Given the description of an element on the screen output the (x, y) to click on. 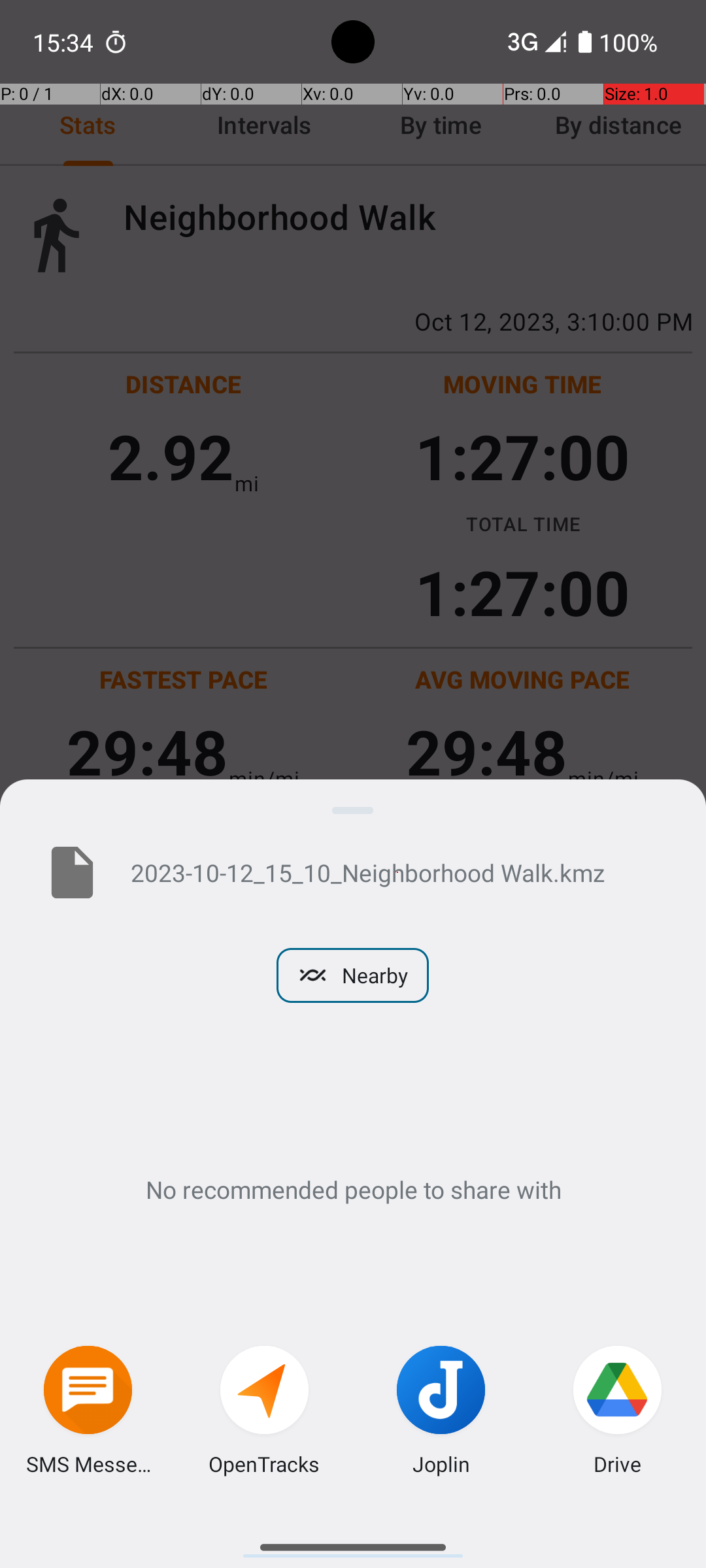
2023-10-12_15_10_Neighborhood Walk.kmz Element type: android.widget.TextView (397, 872)
